Given the description of an element on the screen output the (x, y) to click on. 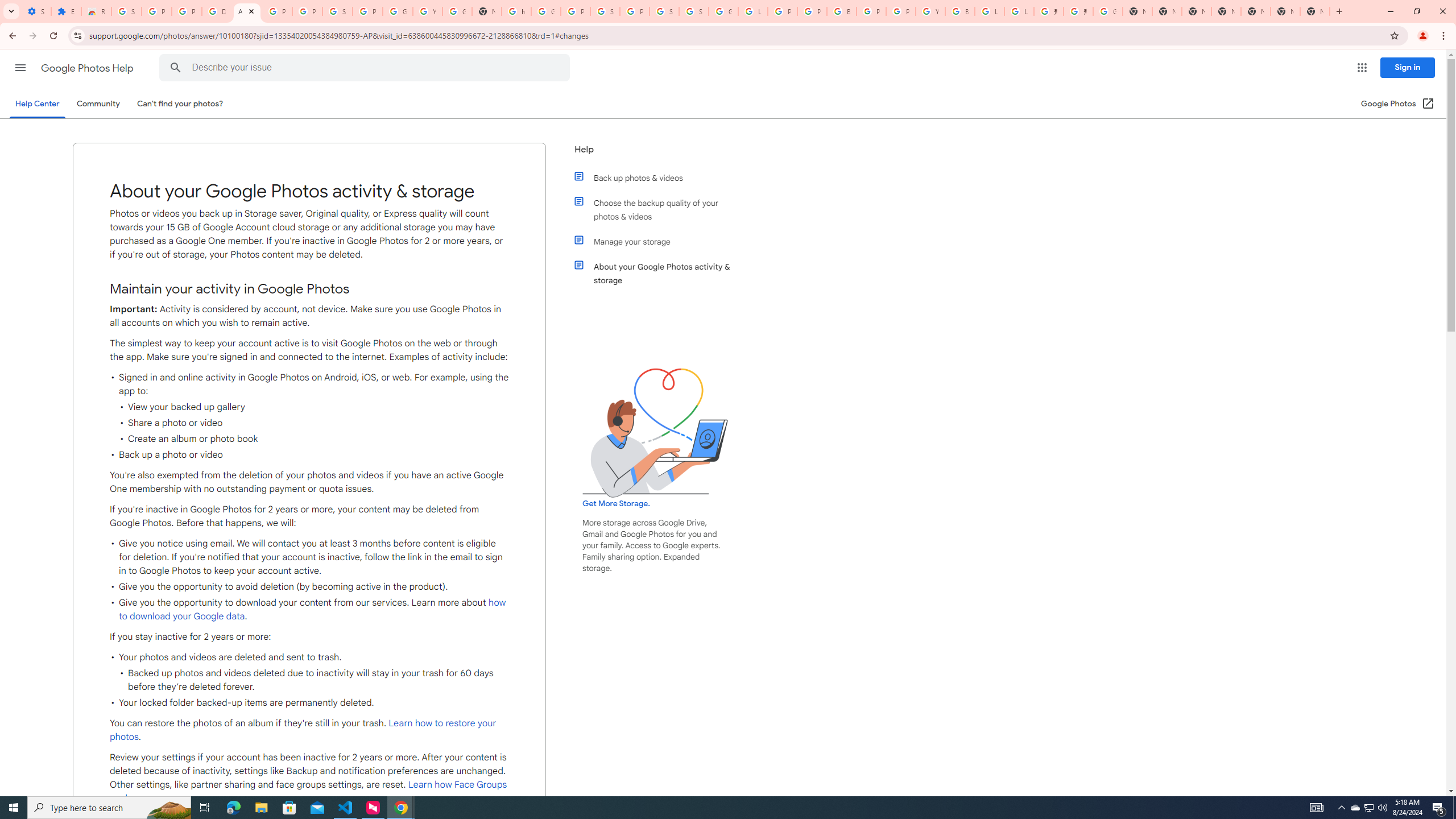
Sign in - Google Accounts (664, 11)
how to download your Google data (312, 609)
Help Center (36, 103)
Delete photos & videos - Computer - Google Photos Help (216, 11)
Privacy Help Center - Policies Help (811, 11)
